Given the description of an element on the screen output the (x, y) to click on. 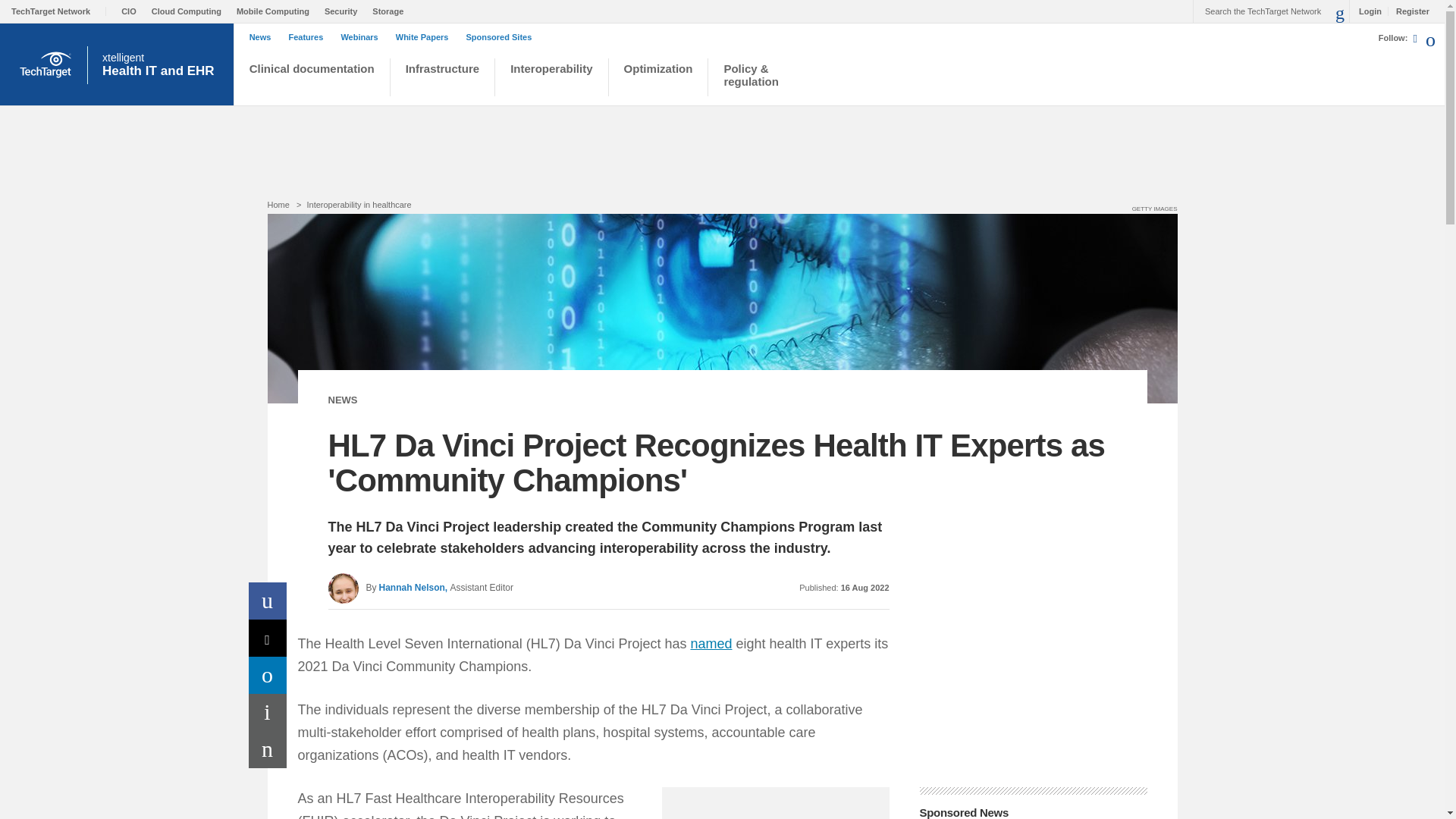
Storage (391, 10)
Cloud Computing (189, 10)
News (263, 36)
Interoperability in healthcare (357, 204)
Features (309, 36)
White Papers (426, 36)
Infrastructure (443, 79)
Register (1408, 10)
Home (277, 204)
Share on LinkedIn (267, 674)
